Given the description of an element on the screen output the (x, y) to click on. 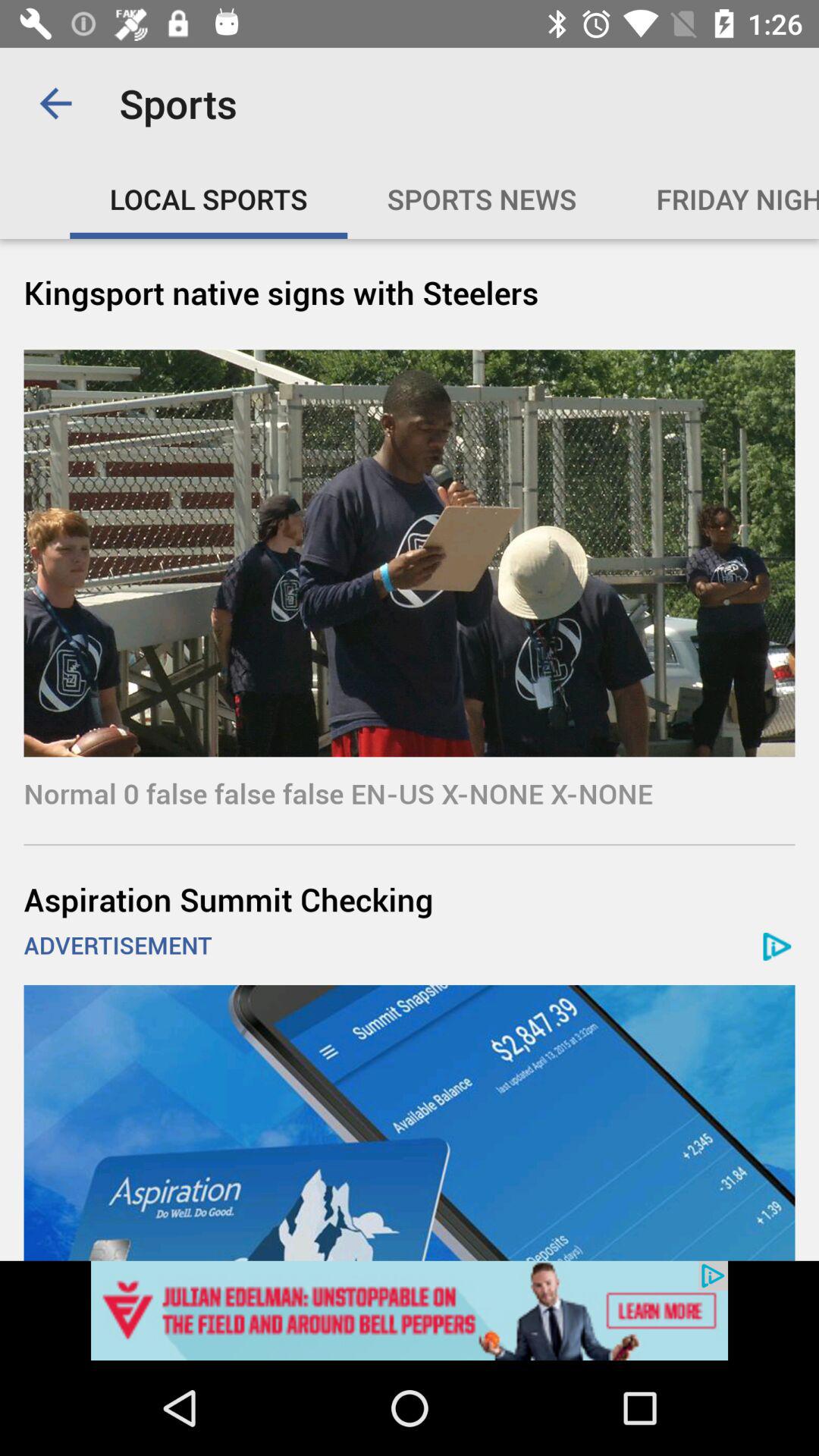
news weather and sports in an instant (409, 1310)
